Given the description of an element on the screen output the (x, y) to click on. 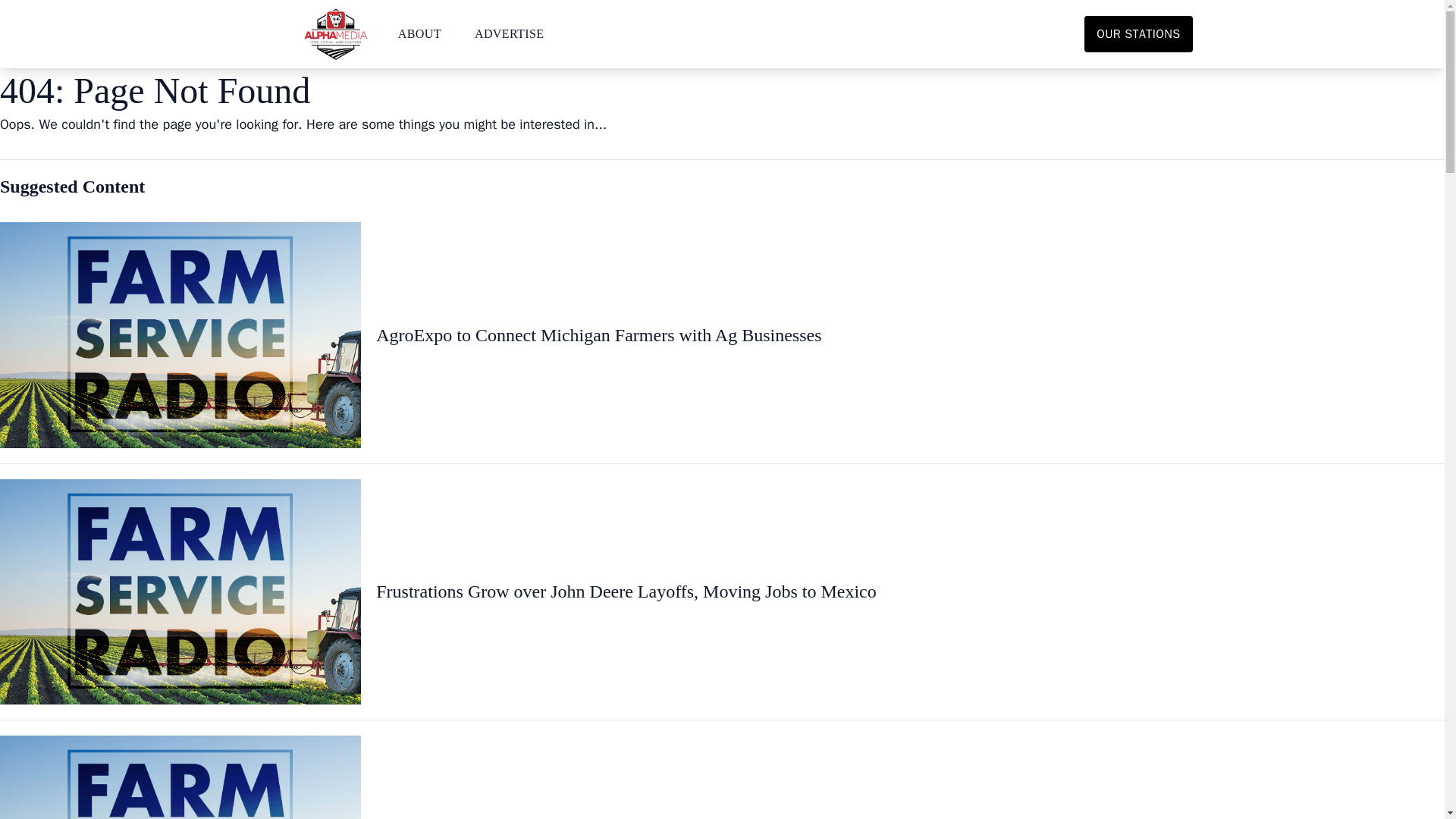
Alpha Ag Network (334, 33)
ADVERTISE (509, 33)
OUR STATIONS (1138, 33)
